Given the description of an element on the screen output the (x, y) to click on. 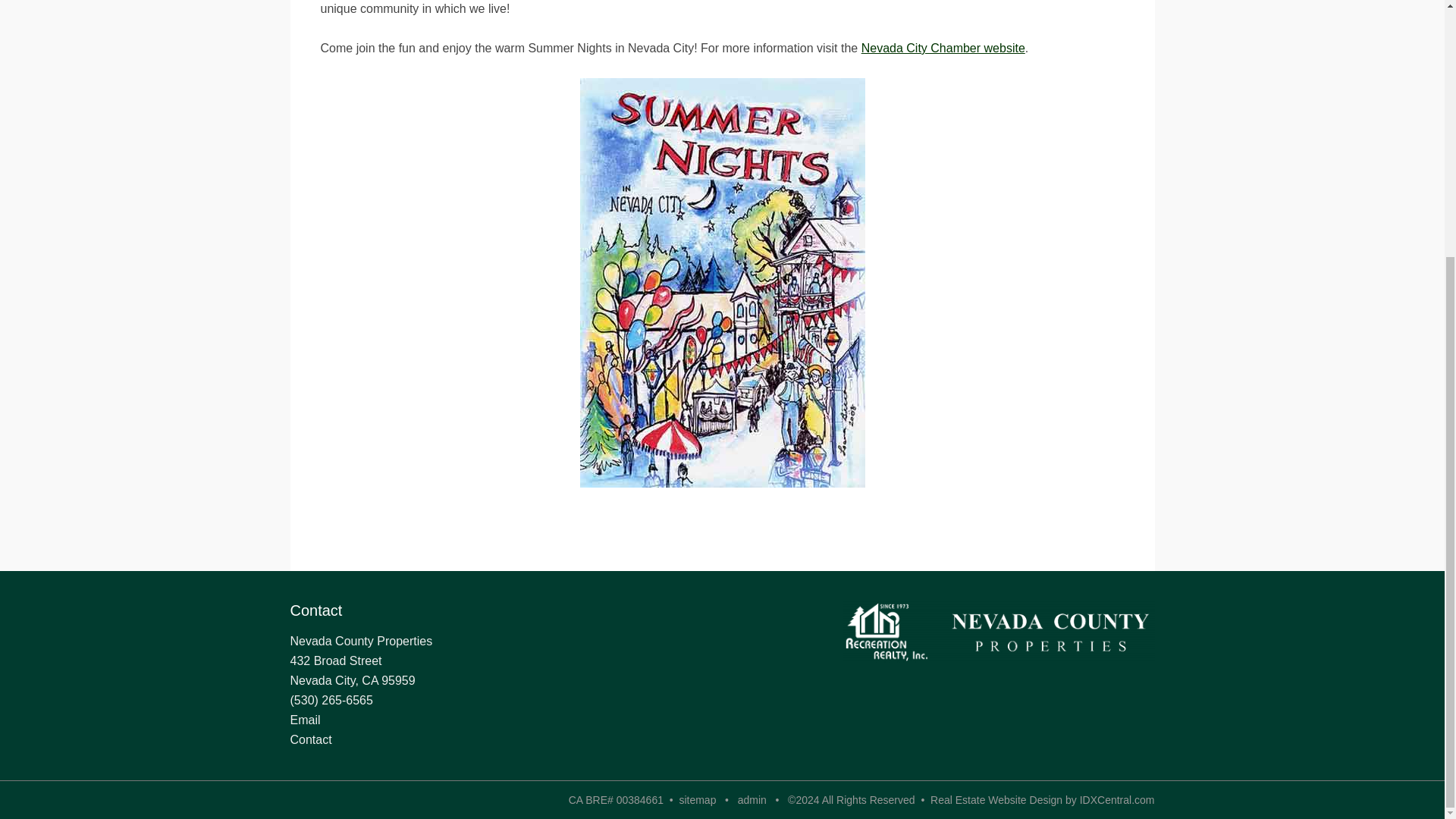
Email (304, 719)
sitemap (697, 799)
Real Estate Website Design (996, 799)
Contact (310, 739)
Nevada City Chamber website (943, 47)
